Given the description of an element on the screen output the (x, y) to click on. 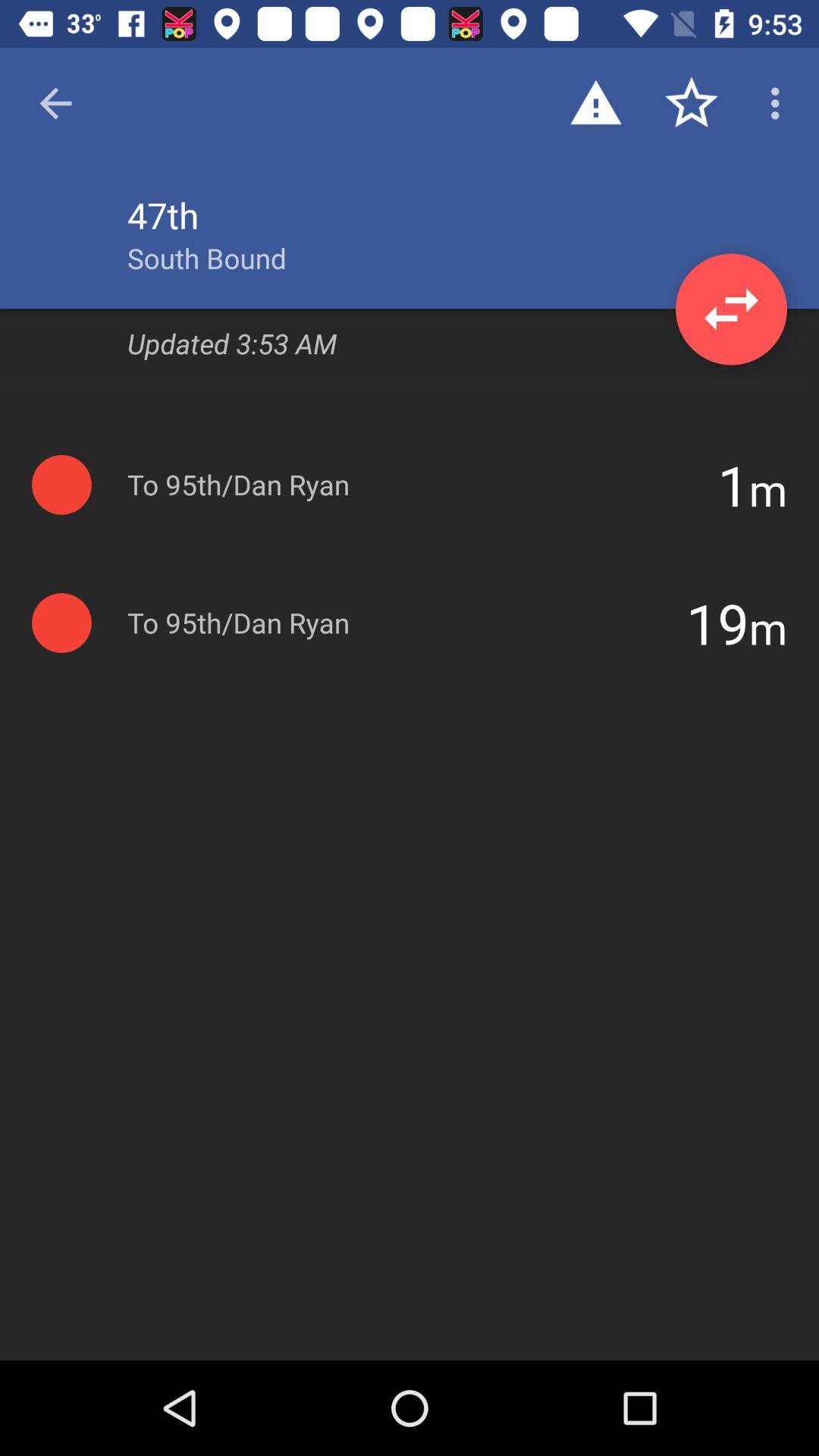
press the 1 item (733, 484)
